Given the description of an element on the screen output the (x, y) to click on. 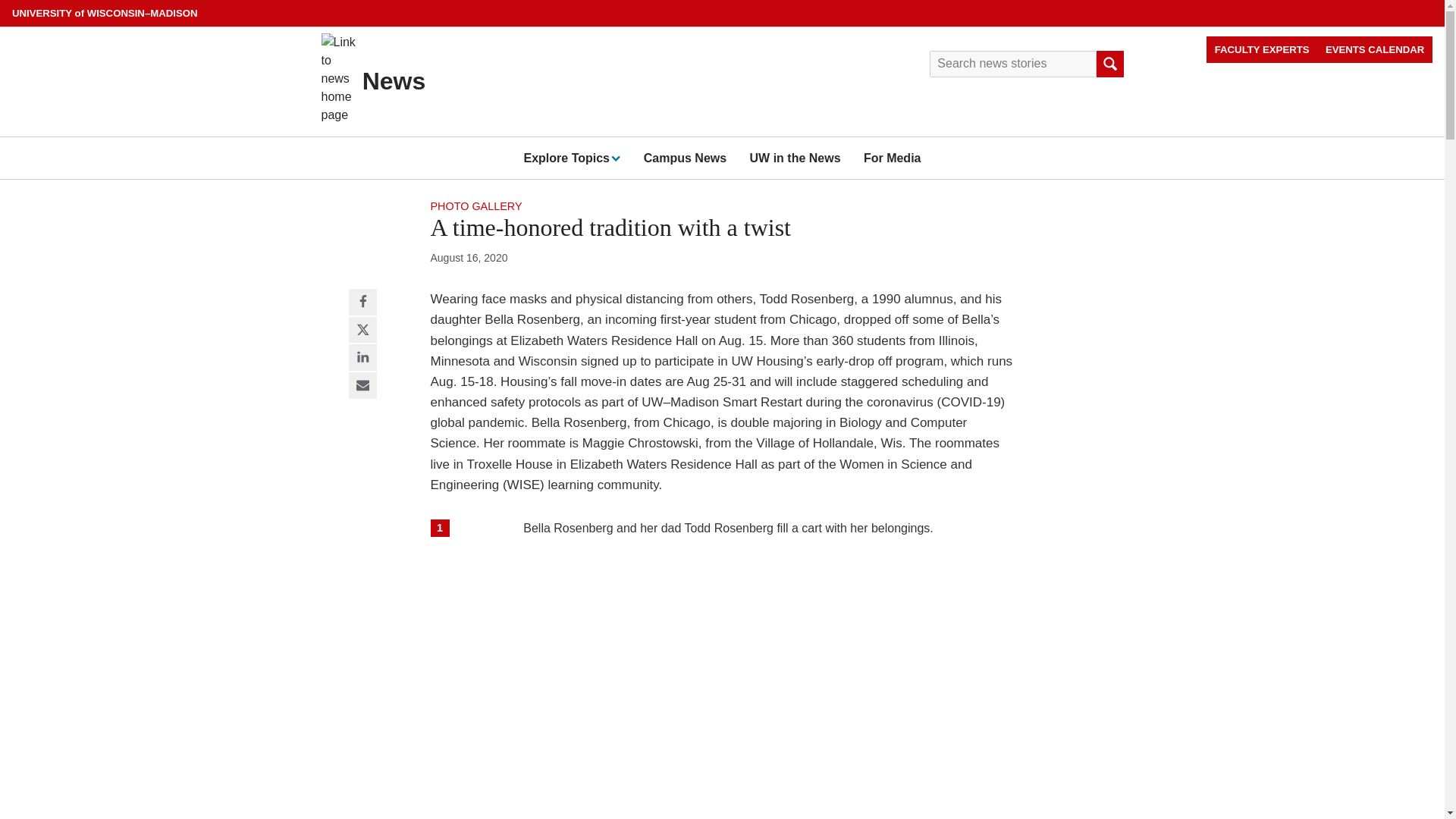
Share via Facebook (362, 302)
News (394, 81)
Explore TopicsExpand (571, 157)
FACULTY EXPERTS (1262, 49)
Submit search (1109, 63)
For Media (892, 157)
Expand (615, 157)
Campus News (684, 157)
UW in the News (795, 157)
Skip to main content (3, 3)
